Given the description of an element on the screen output the (x, y) to click on. 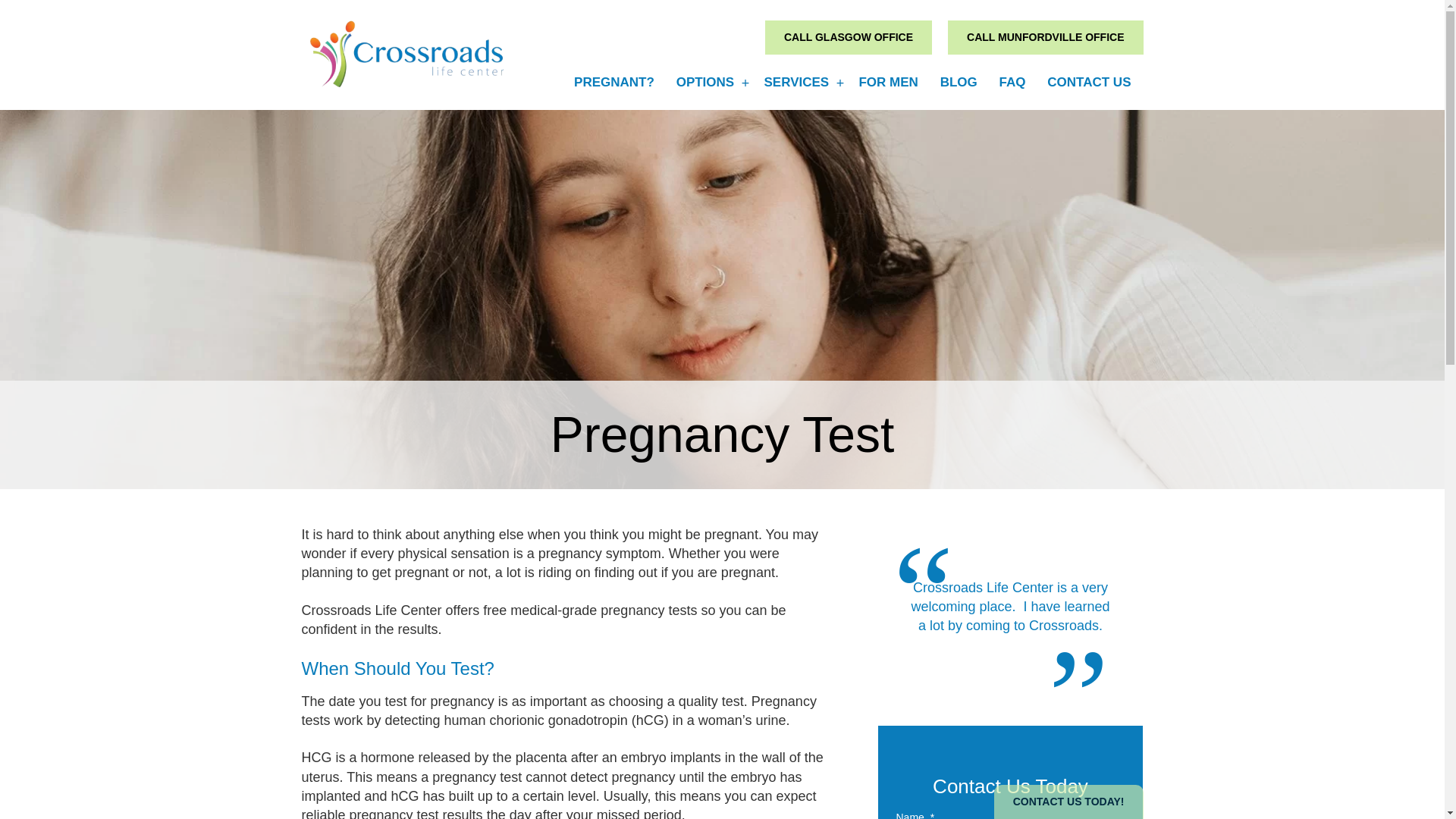
For Men (889, 81)
Blog (960, 81)
Pregnant? (615, 81)
FOR MEN (889, 81)
BLOG (960, 81)
FAQ (1014, 81)
CONTACT US TODAY! (1068, 801)
PREGNANT? (615, 81)
CALL GLASGOW OFFICE (848, 37)
Faq (1014, 81)
